Given the description of an element on the screen output the (x, y) to click on. 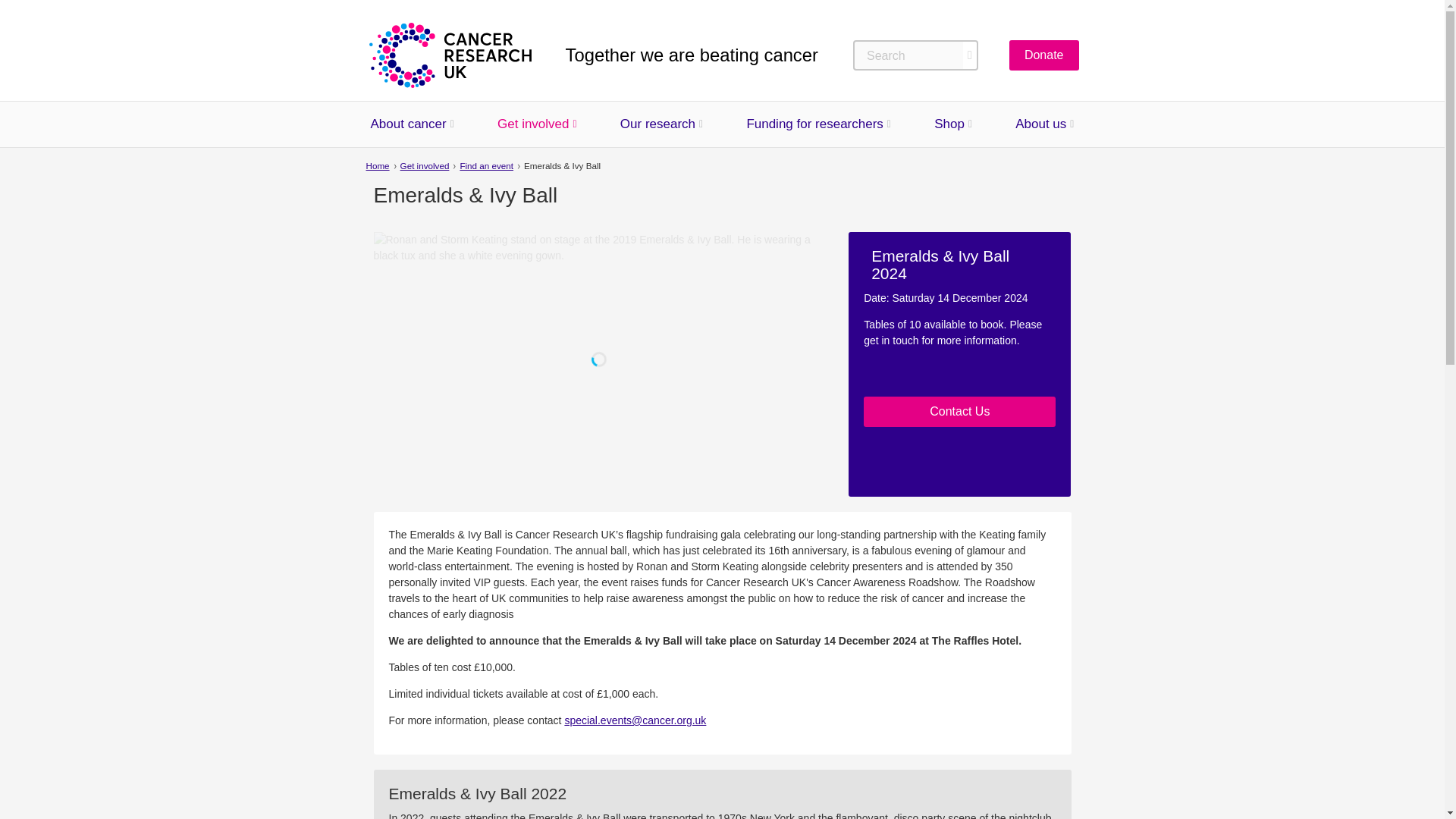
Get involved (533, 124)
Cancer Research UK Homepage (449, 54)
About cancer (407, 124)
Donate (1043, 55)
